Given the description of an element on the screen output the (x, y) to click on. 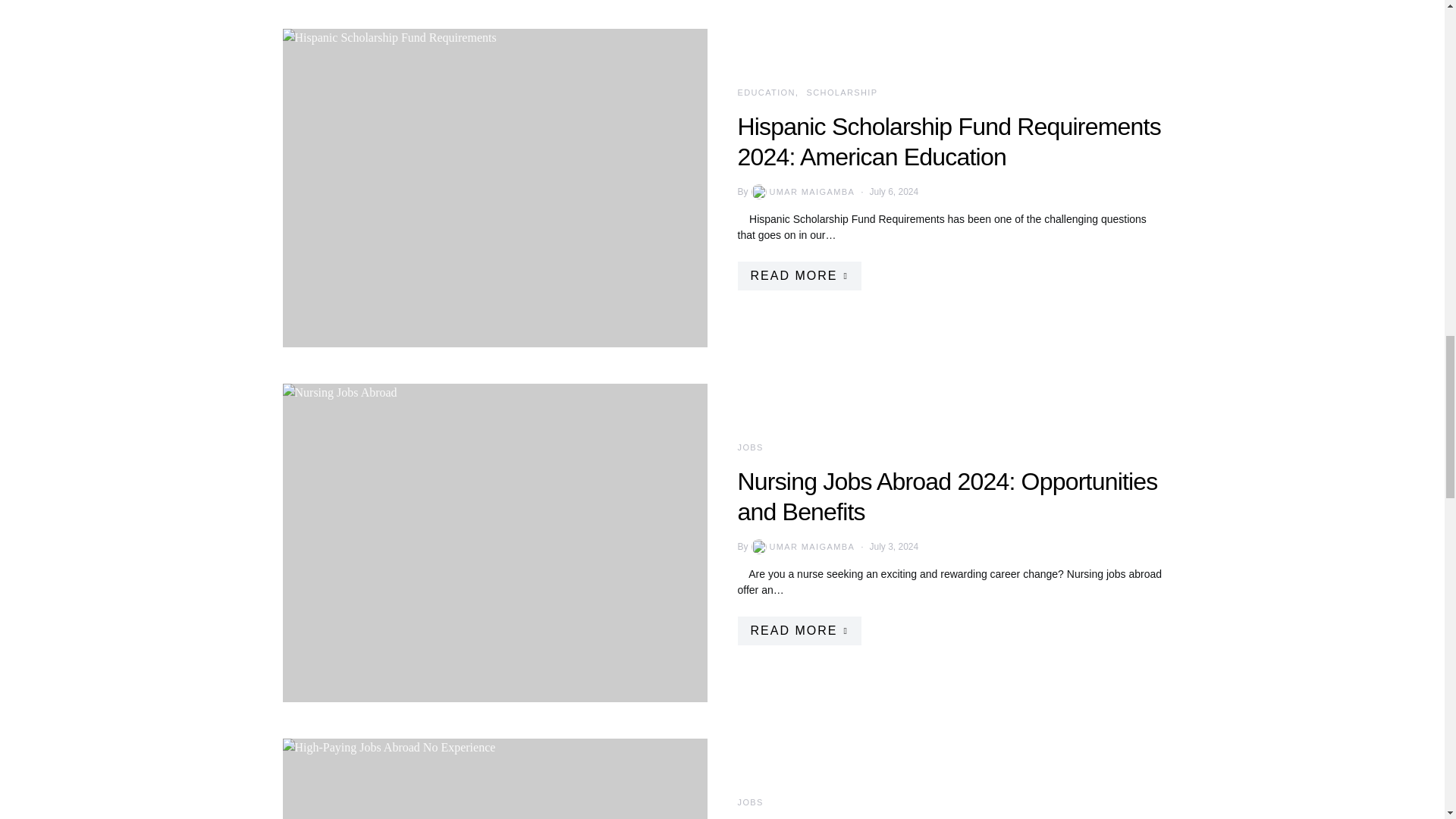
SCHOLARSHIP (841, 92)
View all posts by Umar Maigamba (802, 546)
EDUCATION (765, 92)
View all posts by Umar Maigamba (802, 191)
